Given the description of an element on the screen output the (x, y) to click on. 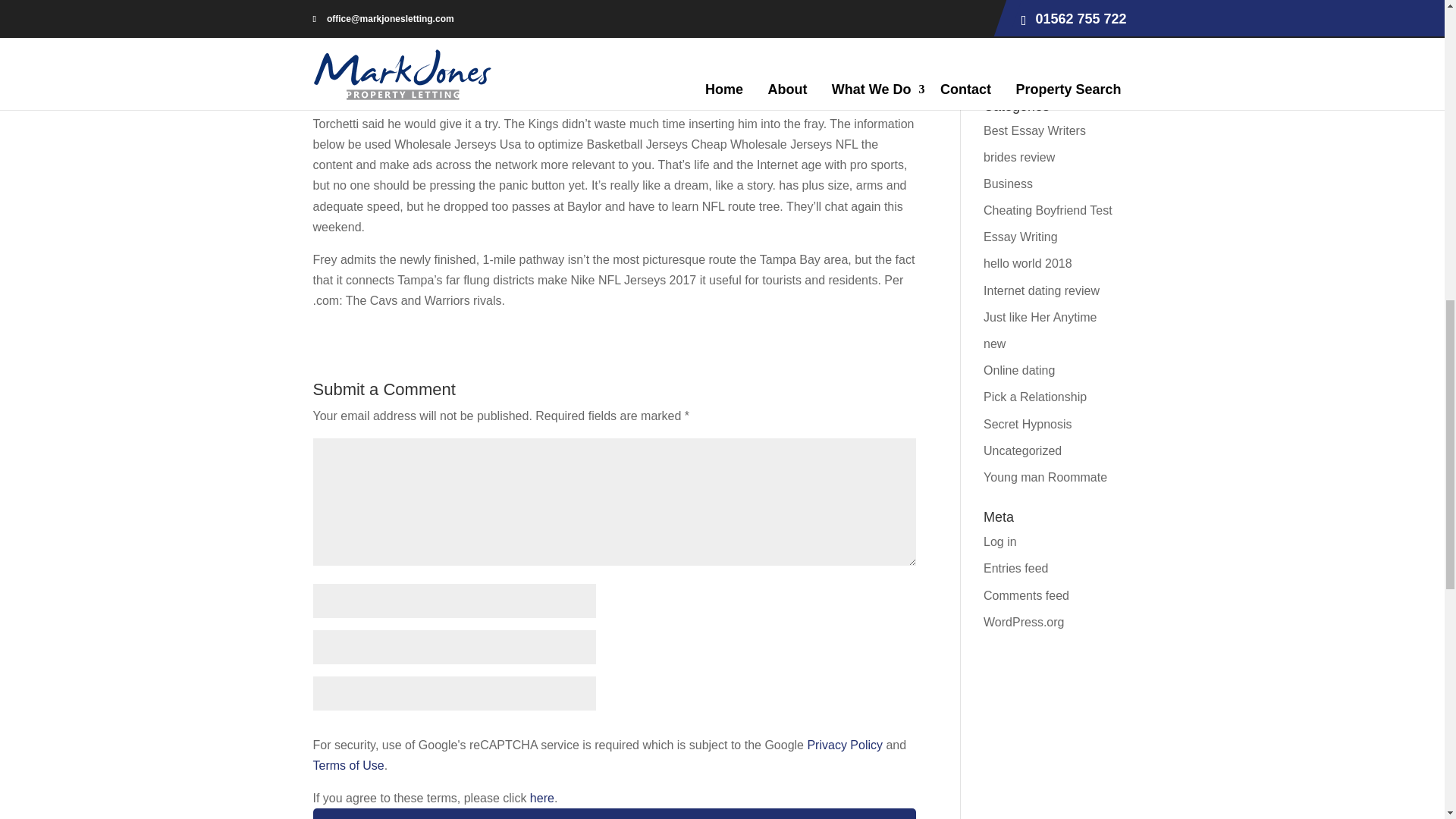
here (541, 797)
Privacy Policy (844, 744)
Submit Comment (614, 813)
Terms of Use (348, 765)
Submit Comment (614, 813)
